Given the description of an element on the screen output the (x, y) to click on. 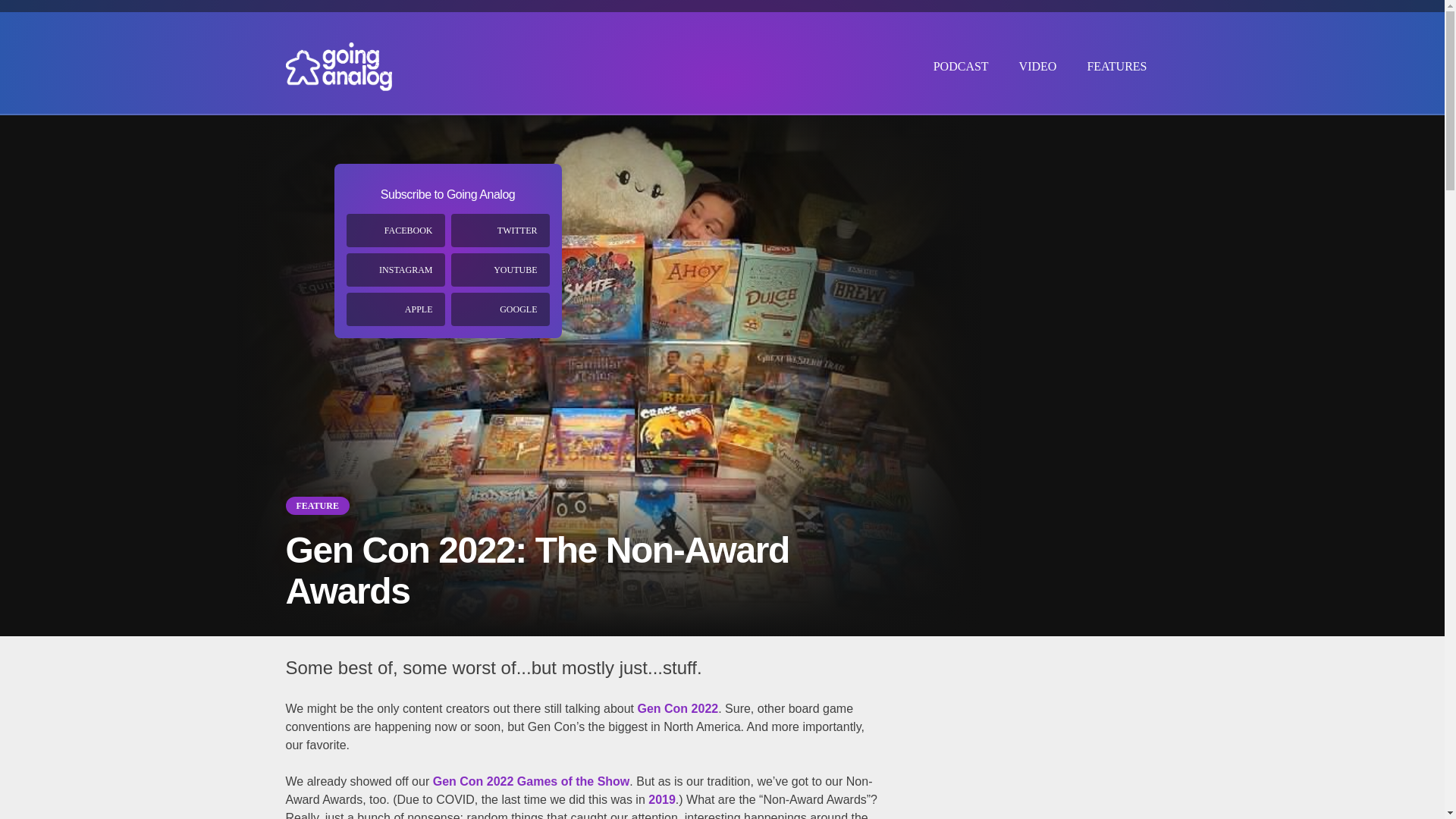
INSTAGRAM (395, 269)
Gen Con 2022 (677, 707)
GOOGLE (498, 308)
FEATURE (317, 505)
APPLE (395, 308)
FEATURES (1116, 63)
PODCAST (961, 63)
FACEBOOK (395, 230)
TWITTER (498, 230)
YOUTUBE (498, 269)
